Given the description of an element on the screen output the (x, y) to click on. 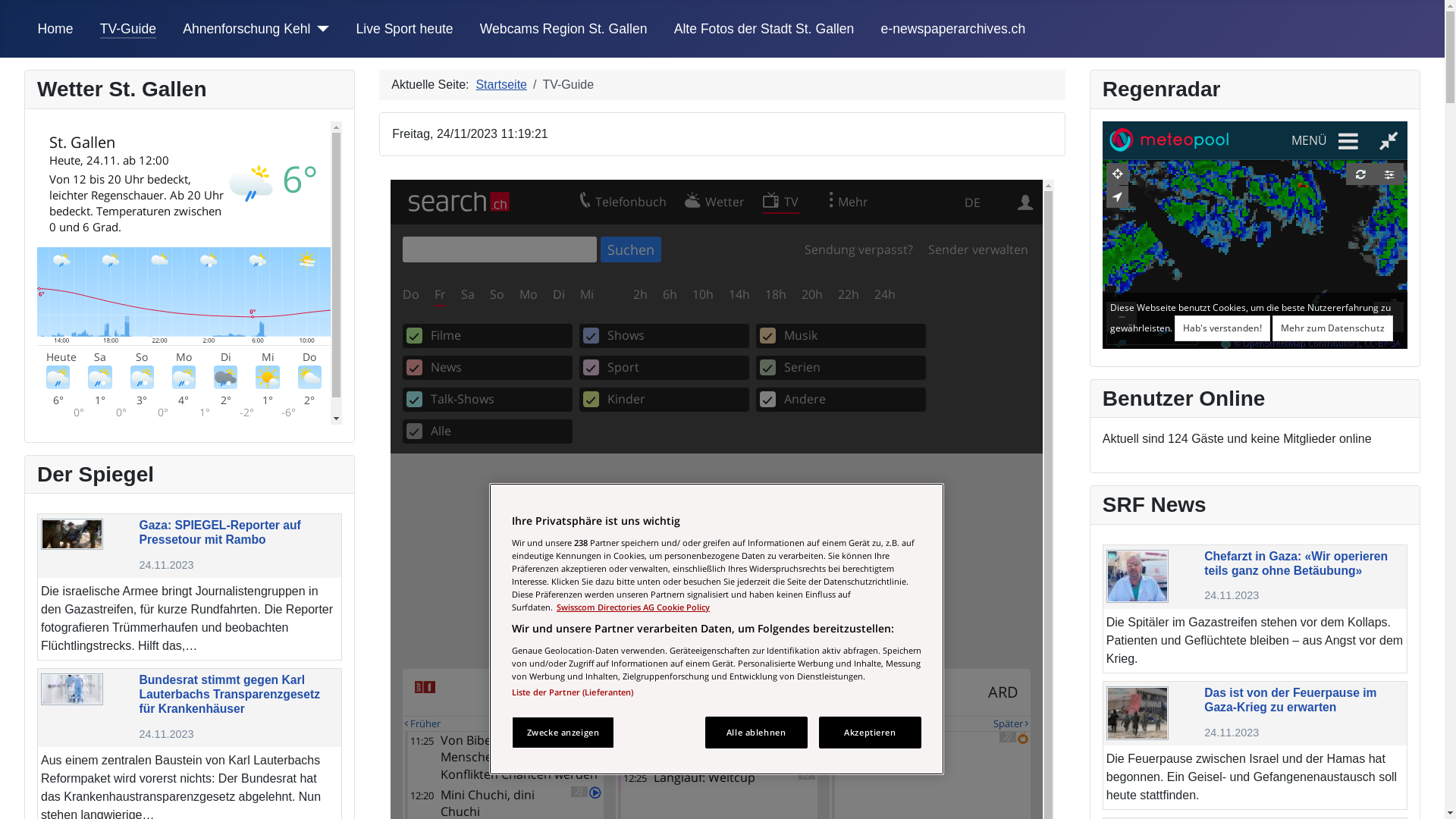
Home Element type: text (55, 28)
Gaza: SPIEGEL-Reporter auf Pressetour mit Rambo Element type: hover (71, 533)
TV-Guide Element type: text (128, 28)
Das ist von der Feuerpause im Gaza-Krieg zu erwarten Element type: hover (1137, 712)
Startseite Element type: text (501, 84)
Gaza: SPIEGEL-Reporter auf Pressetour mit Rambo Element type: text (219, 532)
Das ist von der Feuerpause im Gaza-Krieg zu erwarten Element type: text (1290, 699)
Ahnenforschung Kehl Element type: text (246, 28)
e-newspaperarchives.ch Element type: text (953, 28)
Alte Fotos der Stadt St. Gallen Element type: text (764, 28)
Webcams Region St. Gallen Element type: text (563, 28)
Live Sport heute Element type: text (403, 28)
